Given the description of an element on the screen output the (x, y) to click on. 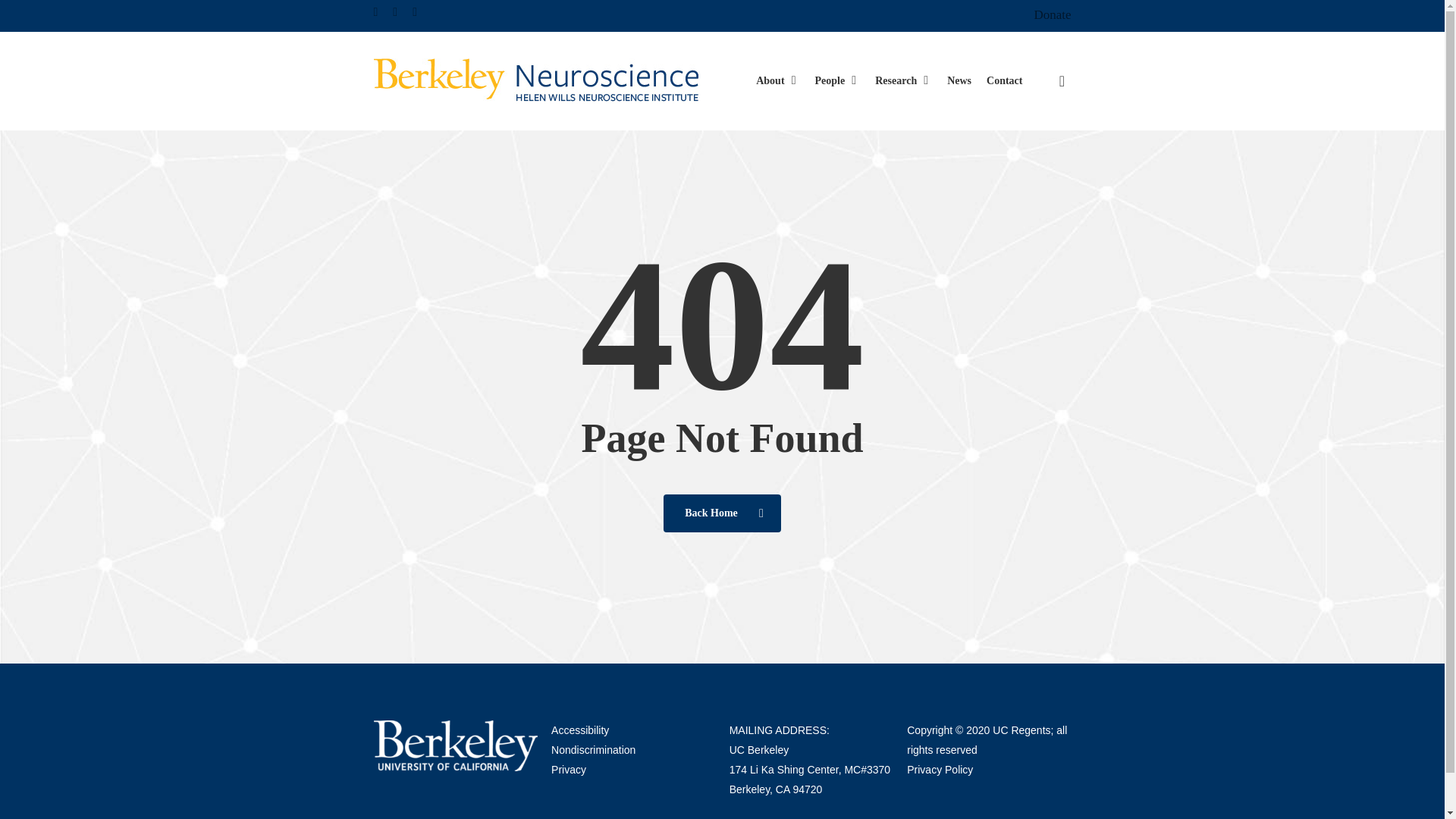
Contact (1004, 80)
Research (903, 80)
Donate (1051, 14)
About (777, 80)
Accessibility (579, 729)
Privacy Policy (939, 769)
News (959, 80)
Back Home (721, 513)
Nondiscrimination (592, 749)
Privacy (568, 769)
People (837, 80)
search (1061, 80)
